Given the description of an element on the screen output the (x, y) to click on. 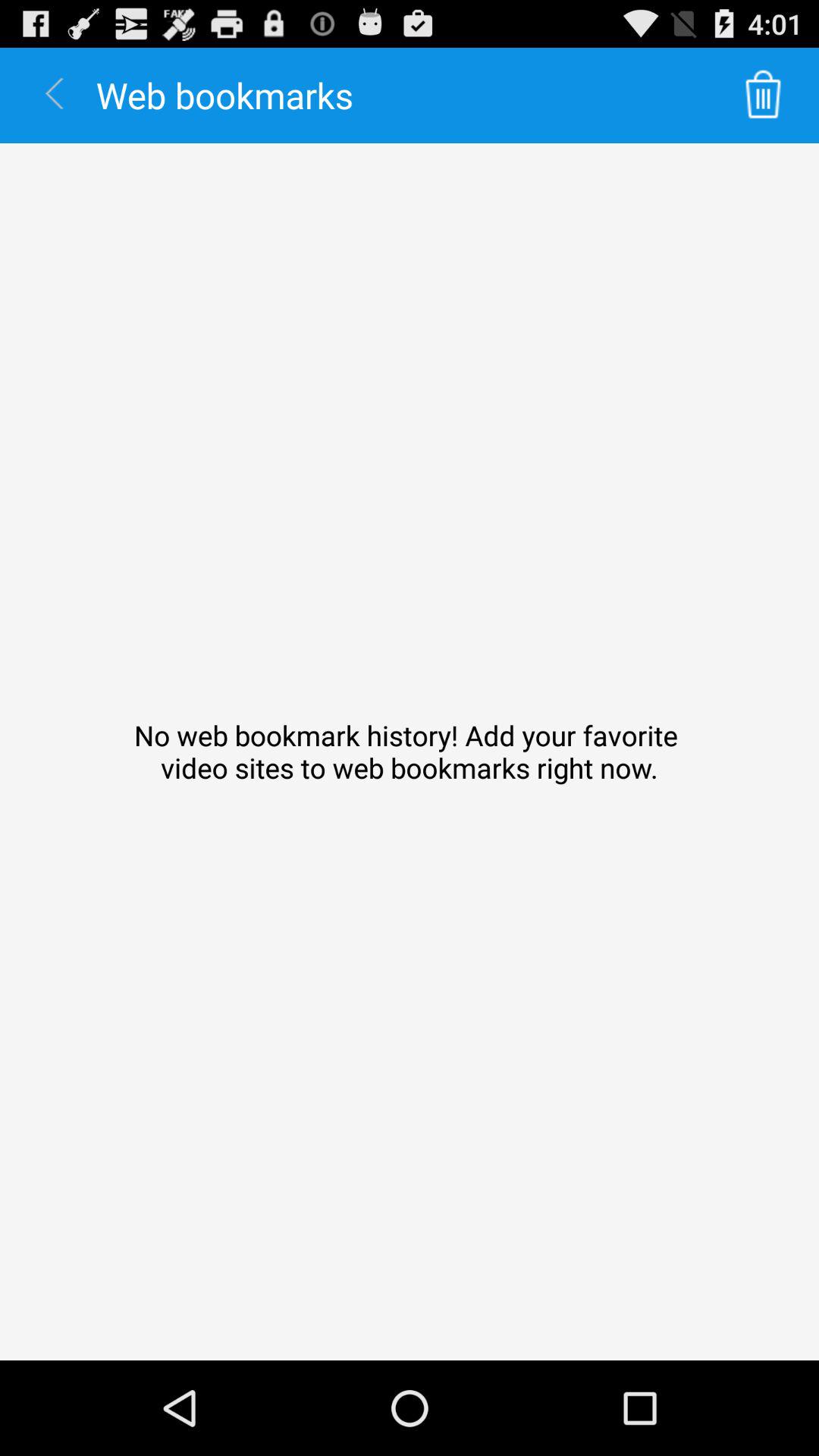
turn off the item at the top right corner (763, 95)
